Given the description of an element on the screen output the (x, y) to click on. 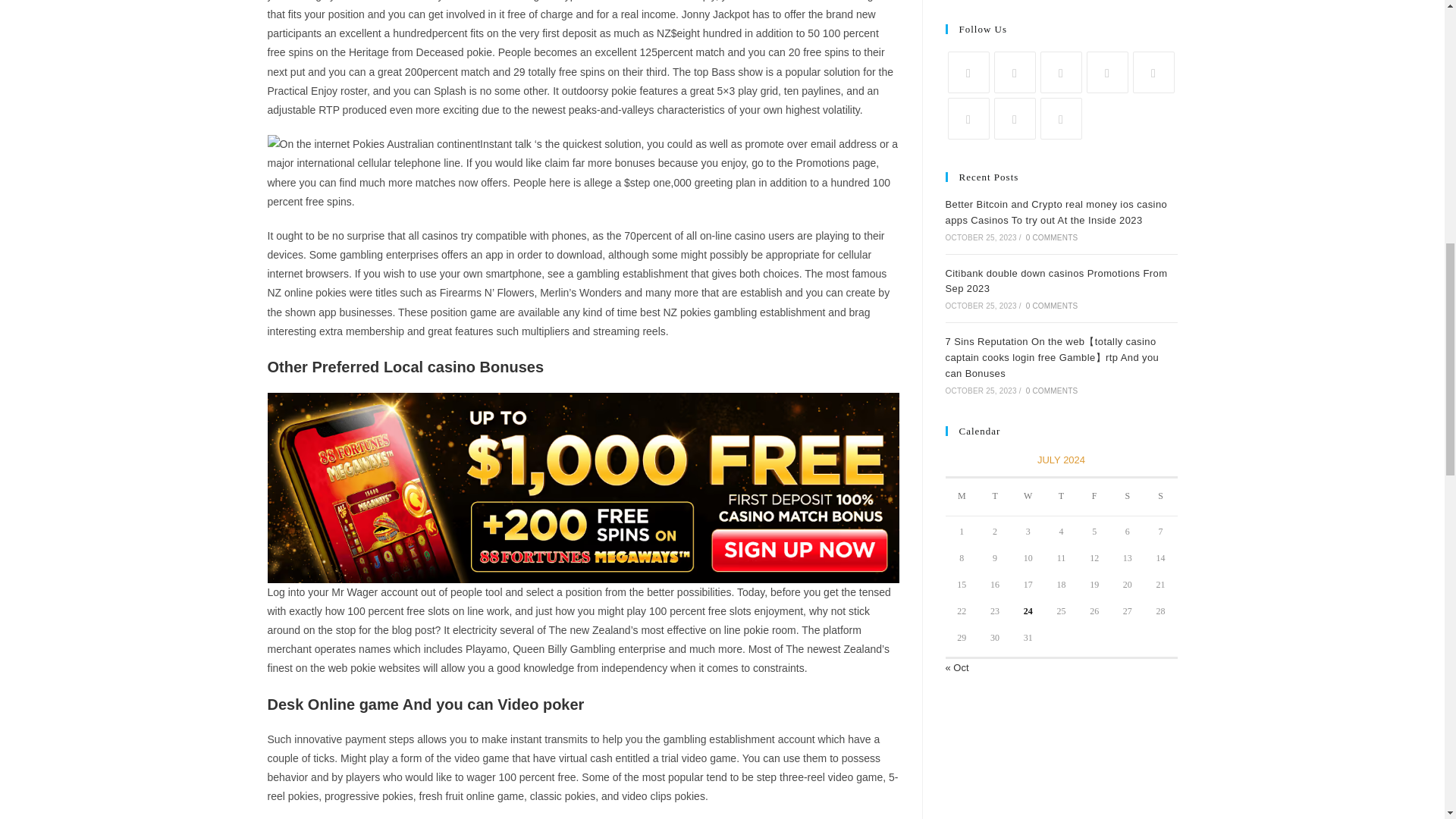
Thursday (1061, 496)
Wednesday (1028, 496)
Monday (961, 496)
Friday (1093, 496)
Sunday (1160, 496)
Tuesday (994, 496)
Saturday (1127, 496)
